Given the description of an element on the screen output the (x, y) to click on. 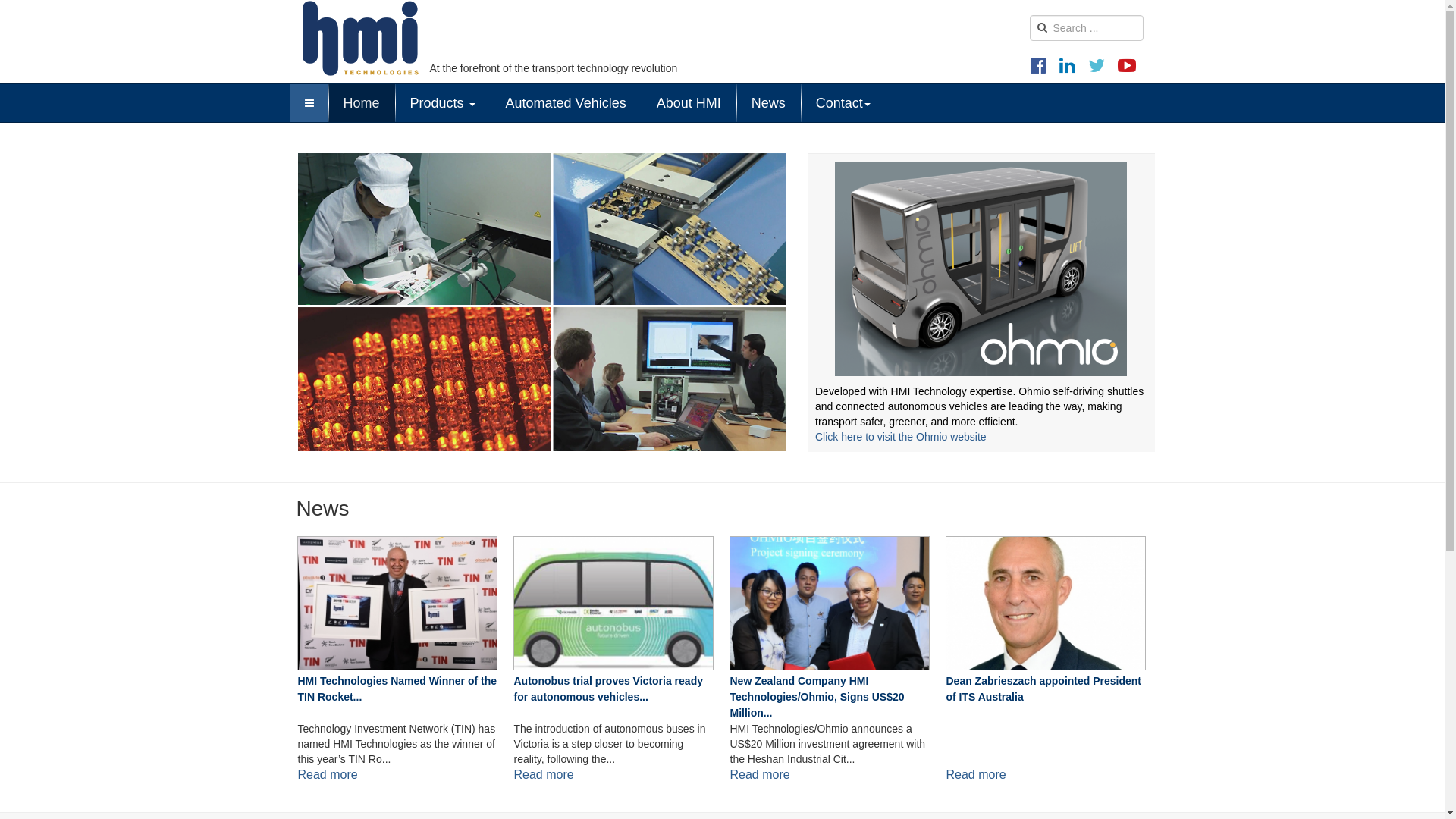
Read more Element type: text (976, 774)
News Element type: text (768, 103)
HMI Technologies Named Winner of the TIN Rocket Award 2018 Element type: hover (396, 602)
Read more Element type: text (759, 774)
About HMI Element type: text (688, 103)
Read more Element type: text (327, 774)
Products Element type: text (442, 103)
HMI Technologies Named Winner of the TIN Rocket... Element type: text (397, 697)
Contact Element type: text (842, 103)
Automated Vehicles Element type: text (565, 103)
Home Element type: text (360, 103)
Dean Zabrieszach appointed President of ITS Australia Element type: text (1046, 697)
Dean Zabrieszach appointed President of ITS Australia Element type: hover (1045, 602)
Dean Zabrieszach appointed President of ITS Australia Element type: hover (1045, 602)
Read more Element type: text (544, 774)
HMI Technologies Element type: hover (360, 37)
Click here to visit the Ohmio website Element type: text (900, 436)
HMI Technologies Named Winner of the TIN Rocket Award 2018 Element type: hover (396, 602)
